Given the description of an element on the screen output the (x, y) to click on. 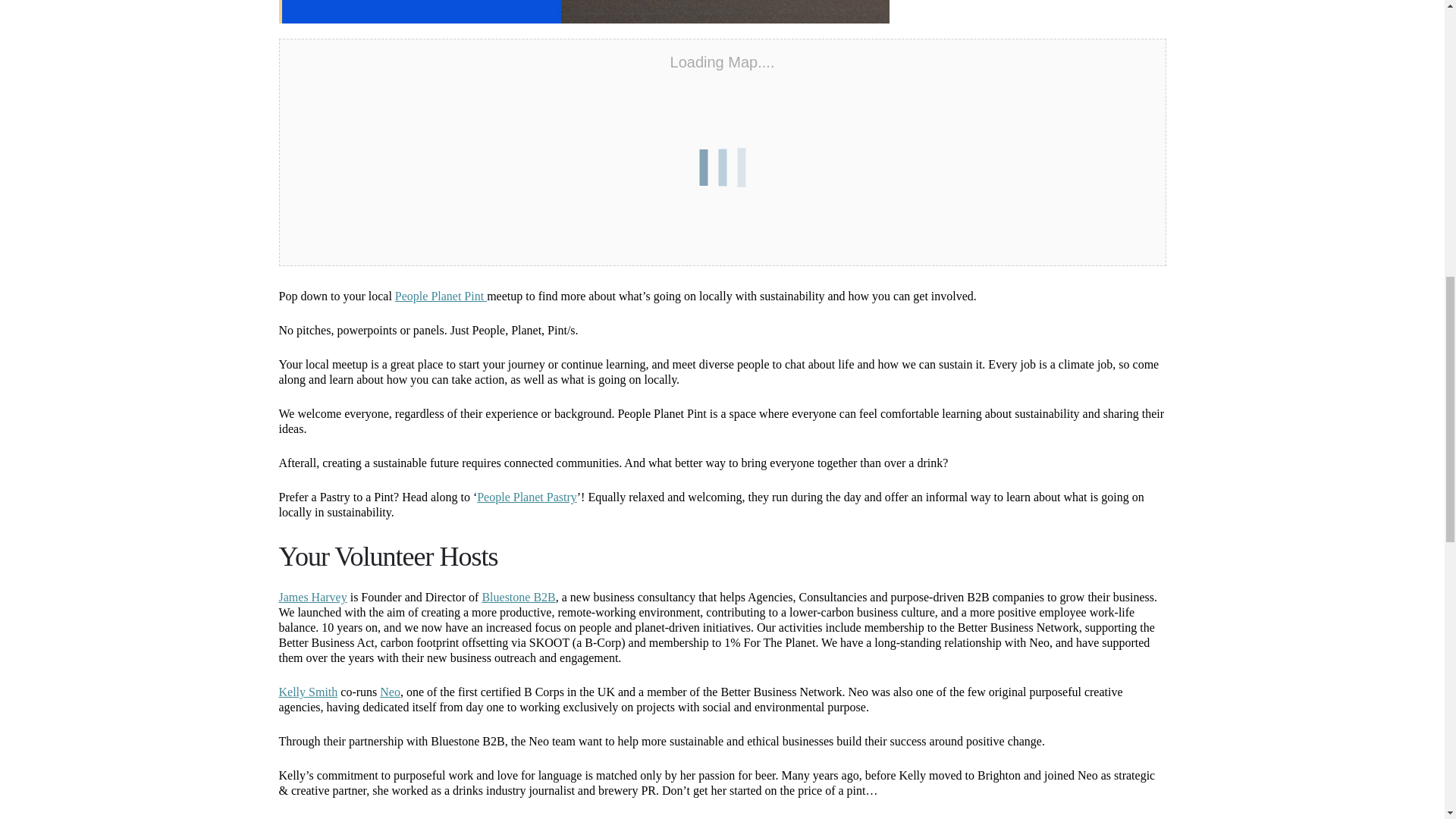
People Planet Pastry (526, 496)
Neo (390, 691)
People Planet Pint  (440, 295)
James Harvey (313, 596)
Bluestone B2B (517, 596)
Kelly Smith (308, 691)
